Given the description of an element on the screen output the (x, y) to click on. 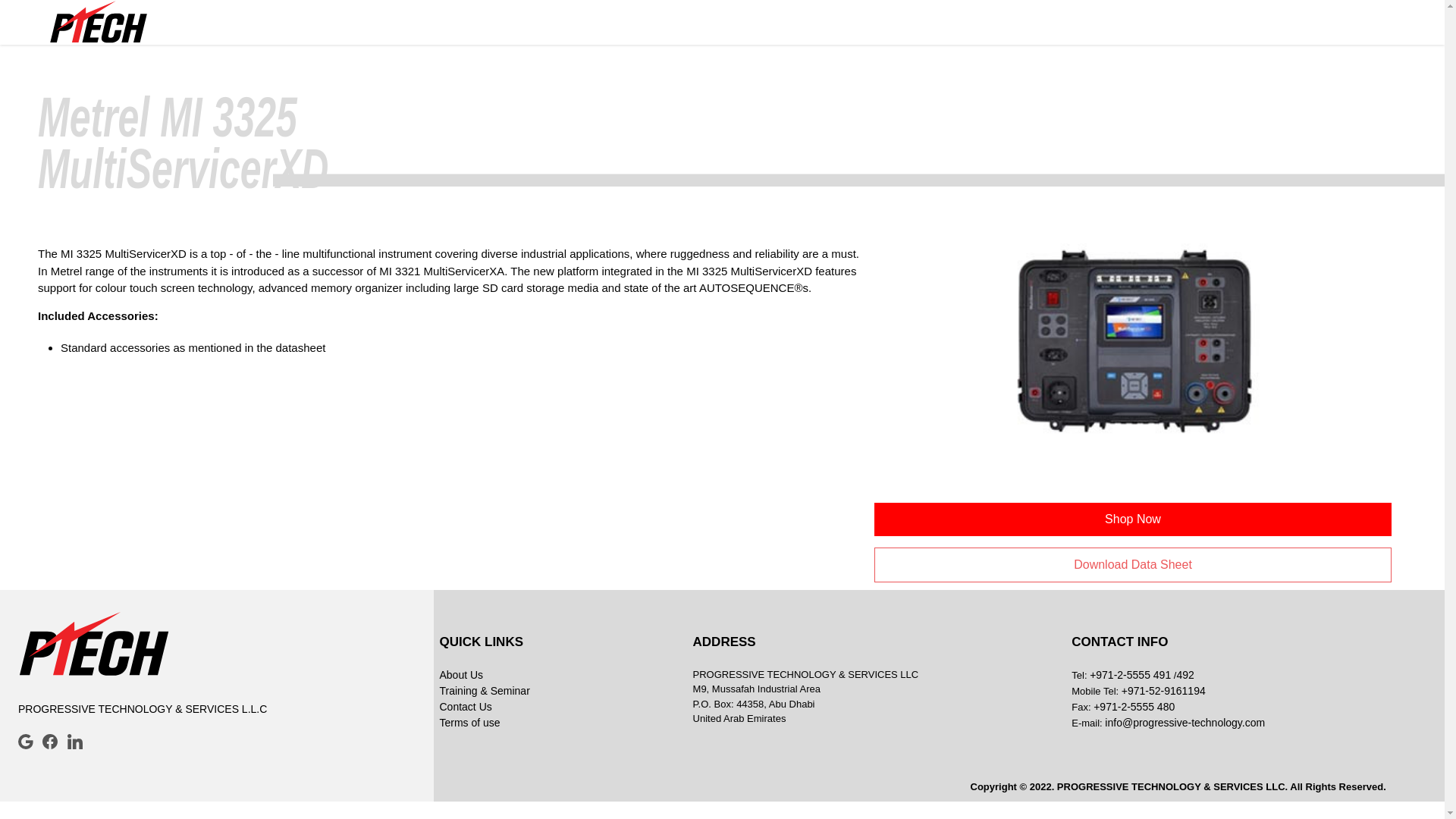
Shop Now (1133, 519)
About Us (560, 675)
492 (1184, 675)
Contact Us (560, 706)
Download Data Sheet (1133, 564)
Terms of use (560, 722)
